Given the description of an element on the screen output the (x, y) to click on. 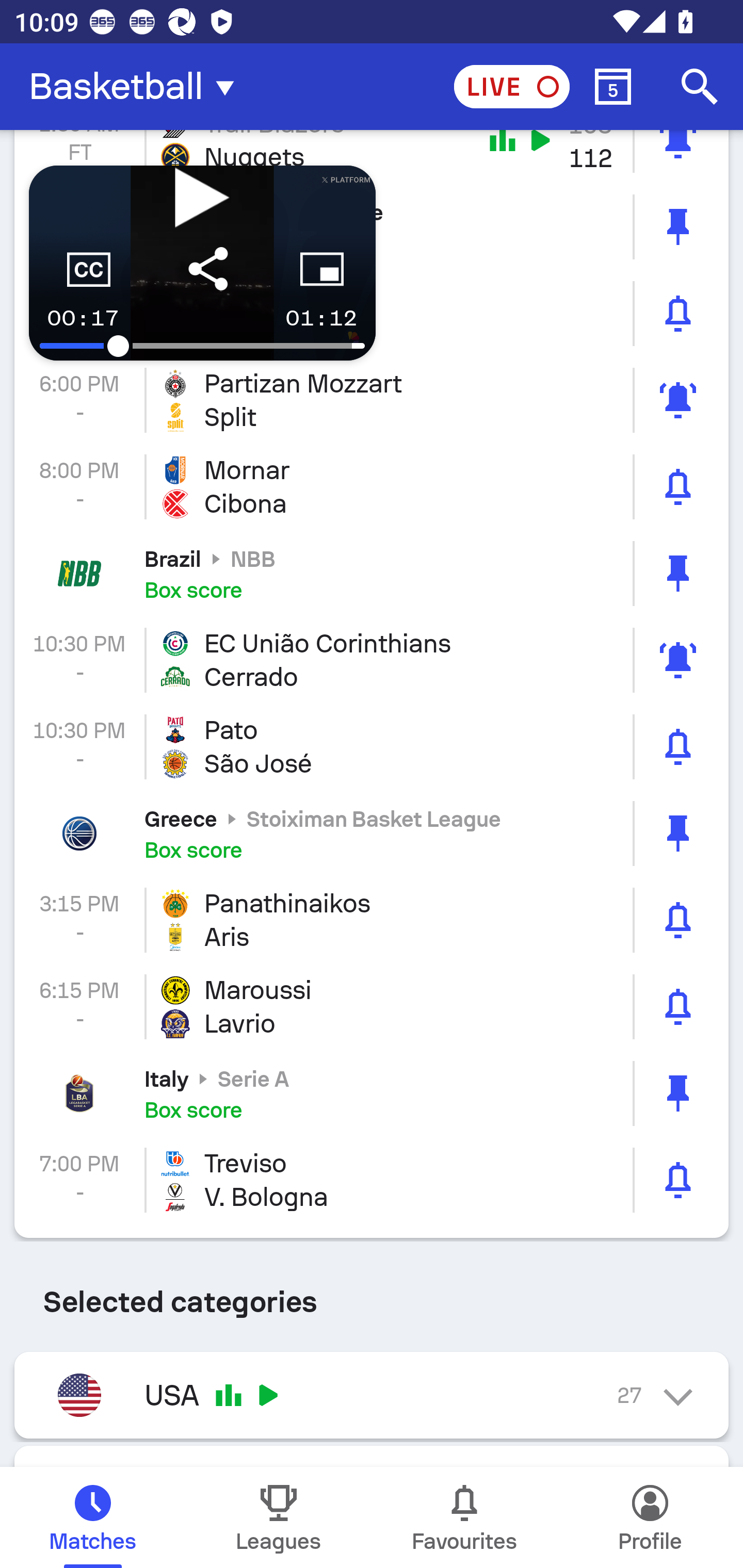
Basketball (137, 86)
Calendar (612, 86)
Search (699, 86)
6:00 PM - Partizan Mozzart Split (371, 400)
8:00 PM - Mornar Cibona (371, 486)
Brazil NBB Box score (371, 572)
10:30 PM - EC União Corinthians Cerrado (371, 660)
10:30 PM - Pato São José (371, 747)
Greece Stoiximan Basket League Box score (371, 833)
3:15 PM - Panathinaikos Aris (371, 919)
6:15 PM - Maroussi Lavrio (371, 1006)
Italy Serie A Box score (371, 1093)
7:00 PM - Treviso V. Bologna (371, 1179)
Selected categories (371, 1294)
USA 27 (371, 1394)
Leagues (278, 1517)
Favourites (464, 1517)
Profile (650, 1517)
